Given the description of an element on the screen output the (x, y) to click on. 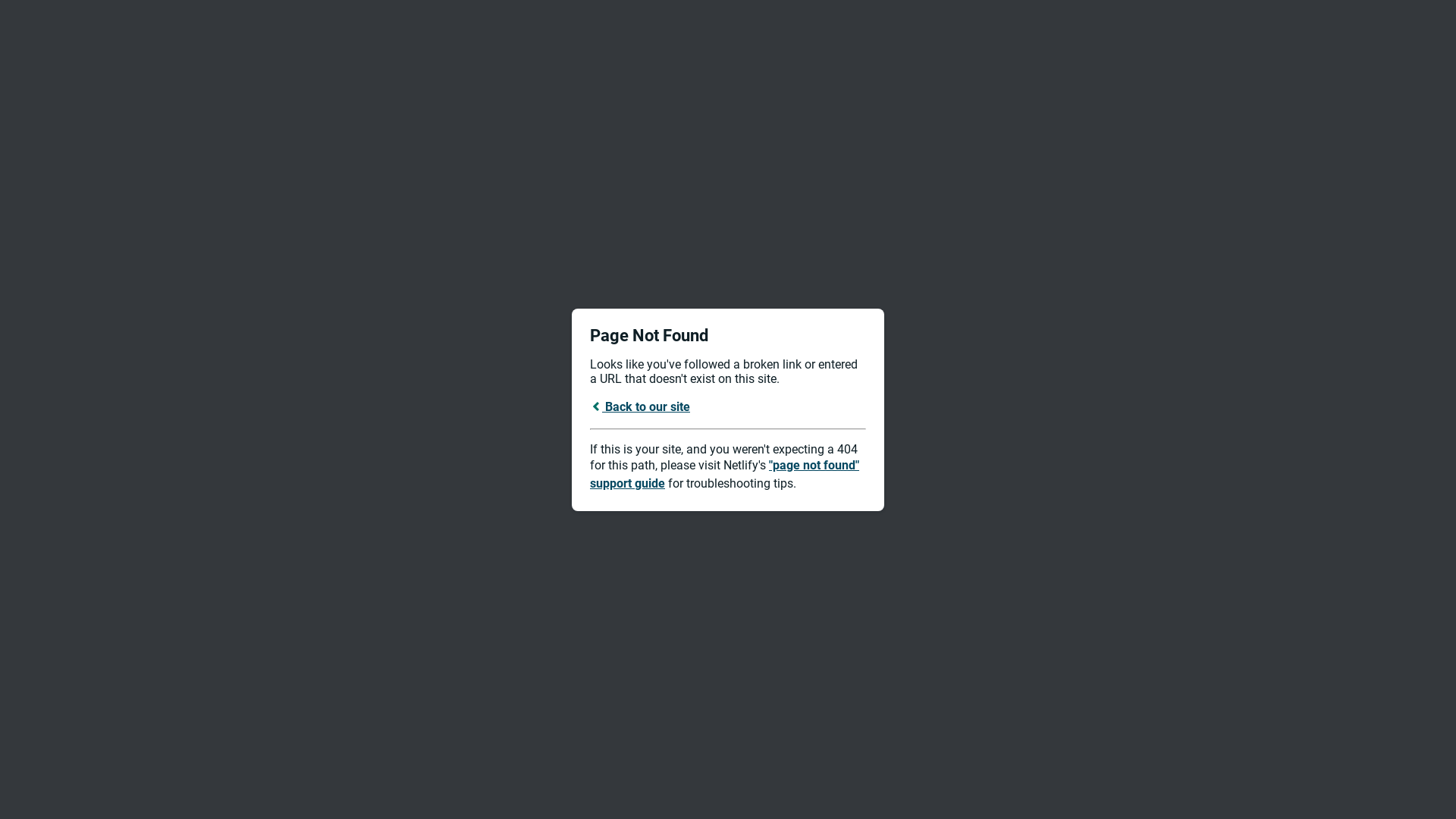
Back to our site Element type: text (639, 405)
"page not found" support guide Element type: text (724, 474)
